Given the description of an element on the screen output the (x, y) to click on. 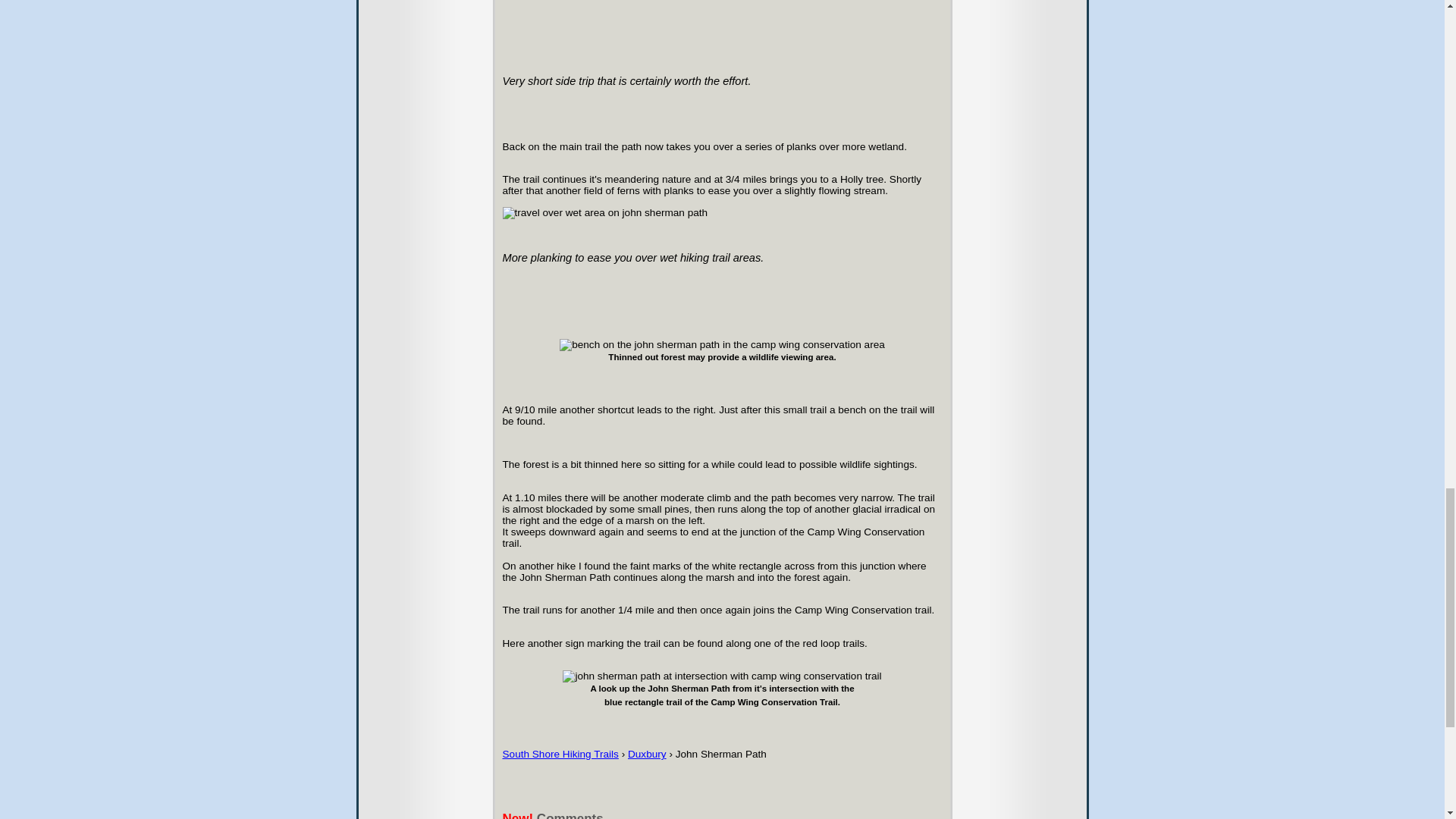
Duxbury (646, 754)
South Shore Hiking Trails (559, 754)
travel over wet area on john sherman path (604, 213)
